Given the description of an element on the screen output the (x, y) to click on. 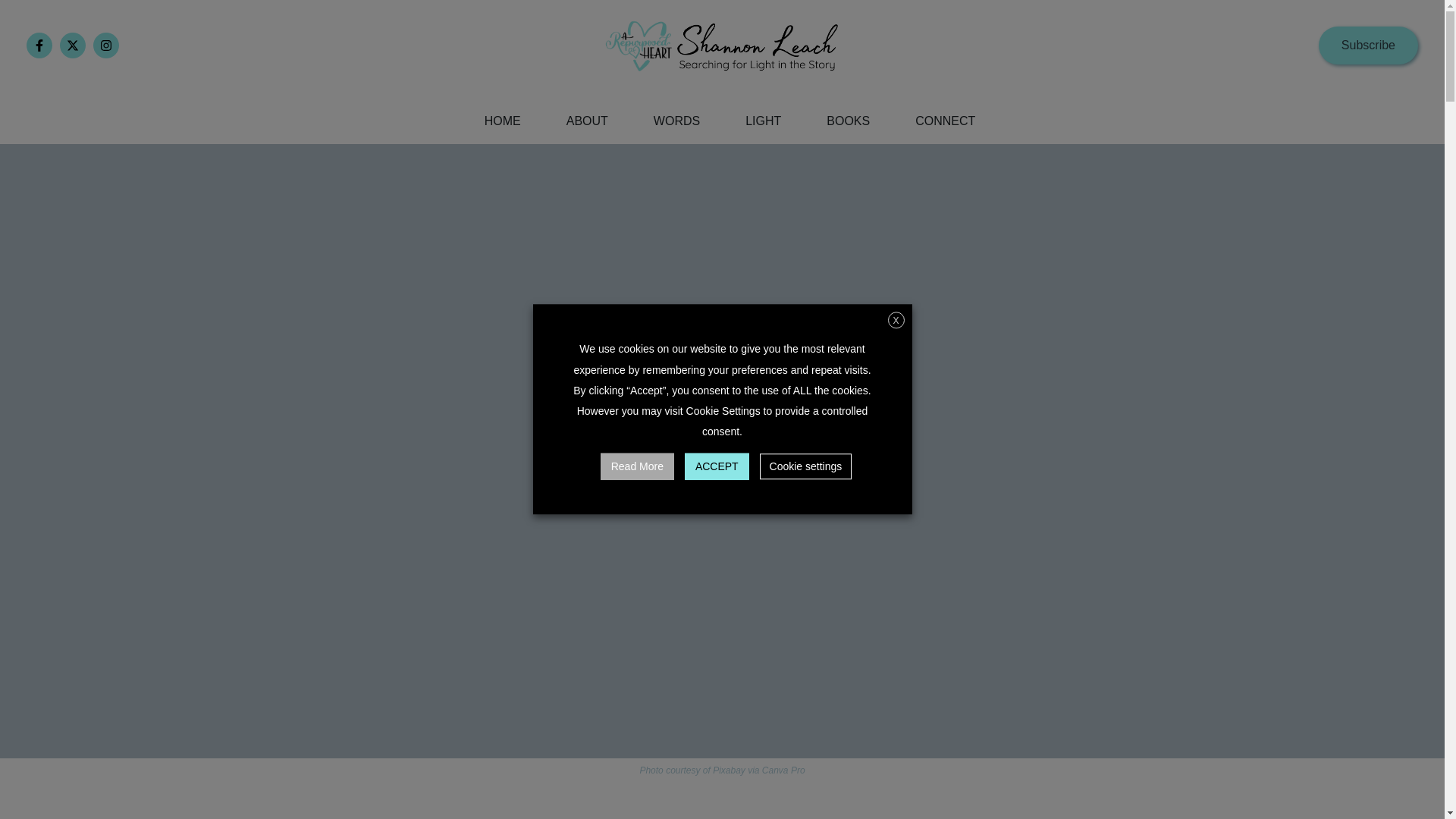
Photo courtesy of Pixabay via Canva Pro (721, 770)
Close and Accept (895, 320)
CONNECT (944, 121)
LIGHT (762, 121)
ABOUT (586, 121)
WORDS (676, 121)
Subscribe (1368, 45)
HOME (502, 121)
BOOKS (847, 121)
